Given the description of an element on the screen output the (x, y) to click on. 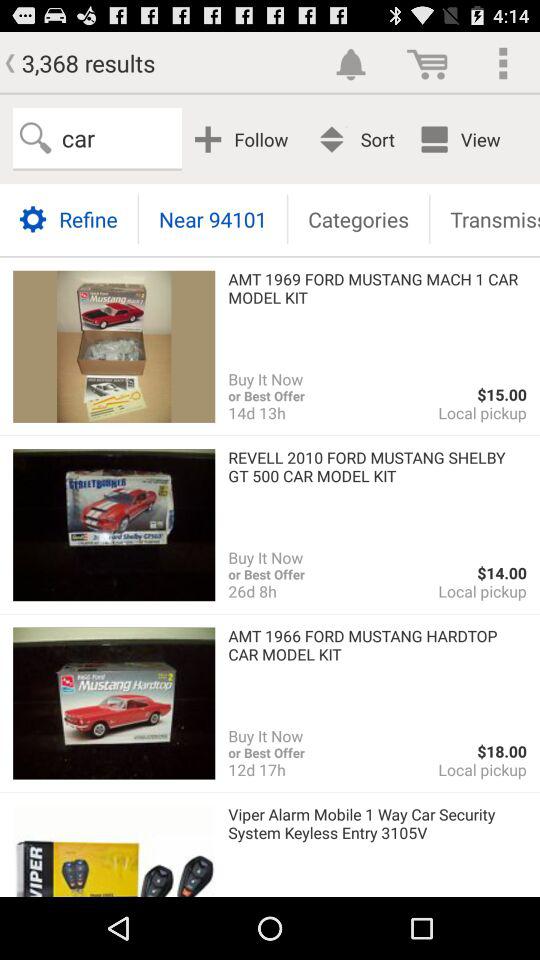
tap the app below follow (212, 218)
